Given the description of an element on the screen output the (x, y) to click on. 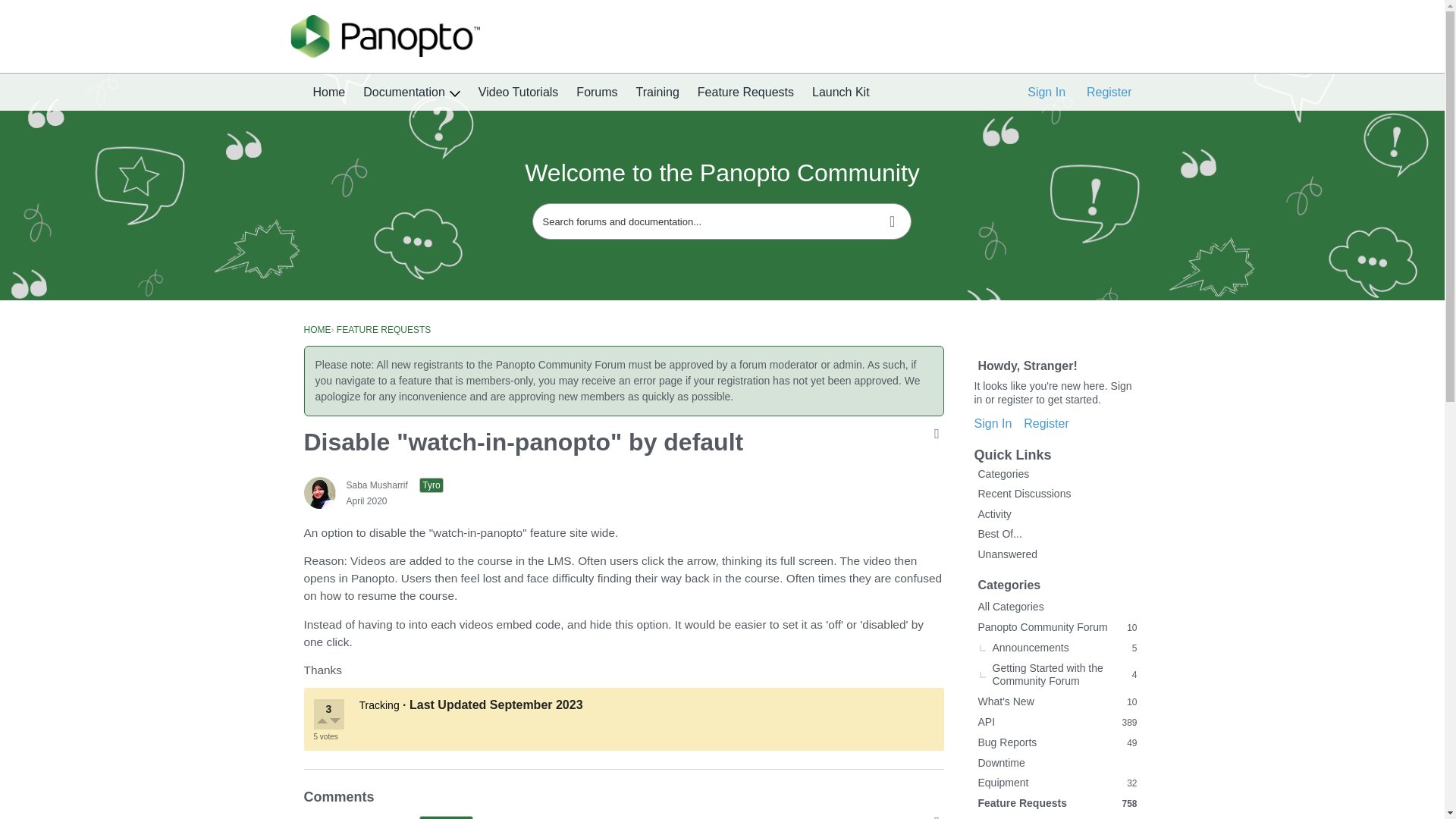
April 24, 2020 10:49AM (366, 501)
Video Tutorials (517, 92)
Level 2 (446, 817)
Training (657, 92)
September 21, 2023 9:36PM (536, 704)
Register (1109, 92)
Saba Musharrif (318, 492)
Level 1 (430, 485)
Launch Kit (841, 92)
389 discussions (1129, 722)
Sign In (1045, 92)
Enter your search term. (721, 221)
Up (323, 722)
Feature Requests (745, 92)
Home (327, 92)
